Given the description of an element on the screen output the (x, y) to click on. 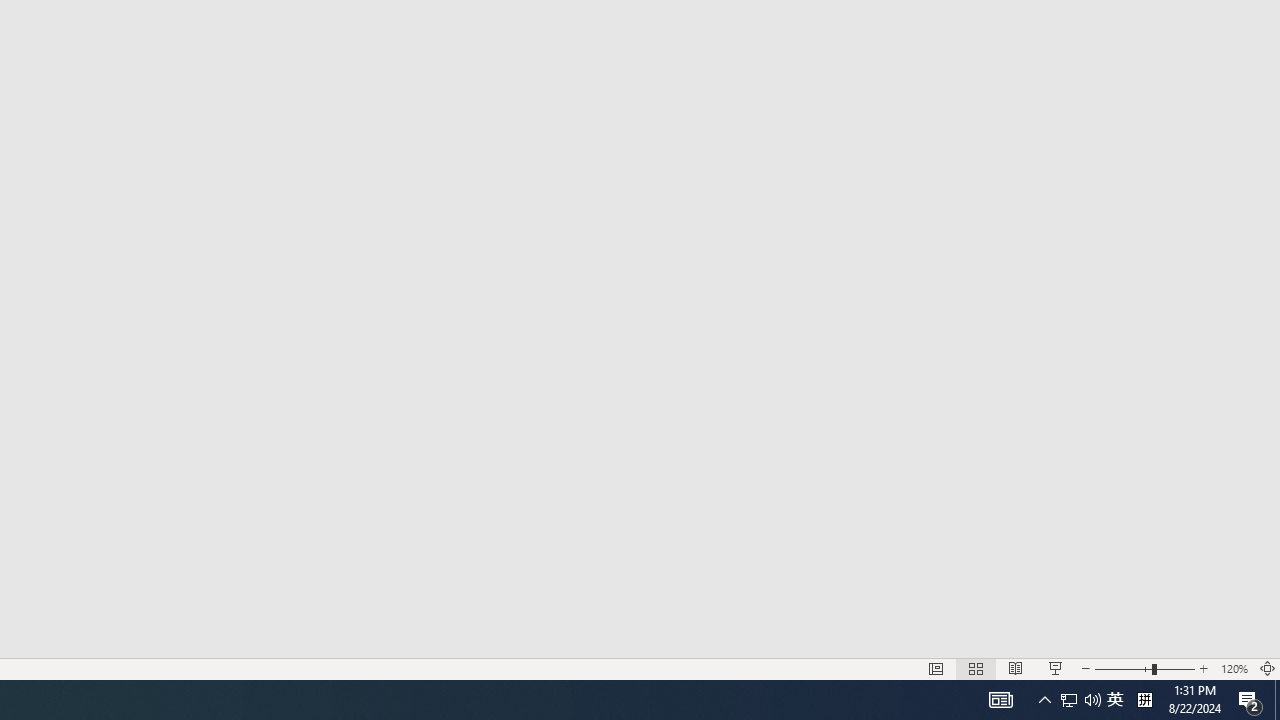
Zoom 120% (1234, 668)
